Given the description of an element on the screen output the (x, y) to click on. 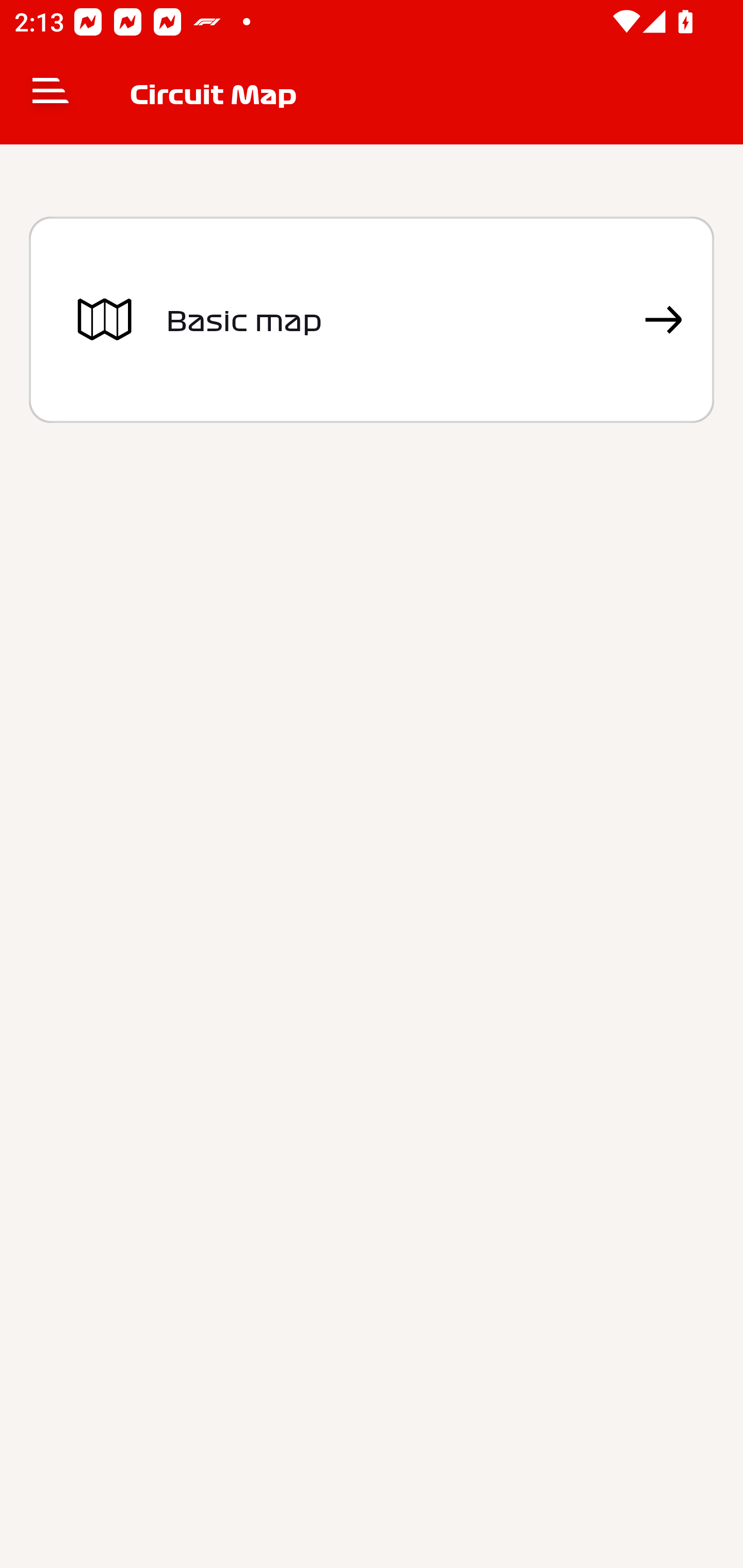
Navigate up (50, 93)
Basic map (371, 319)
